Given the description of an element on the screen output the (x, y) to click on. 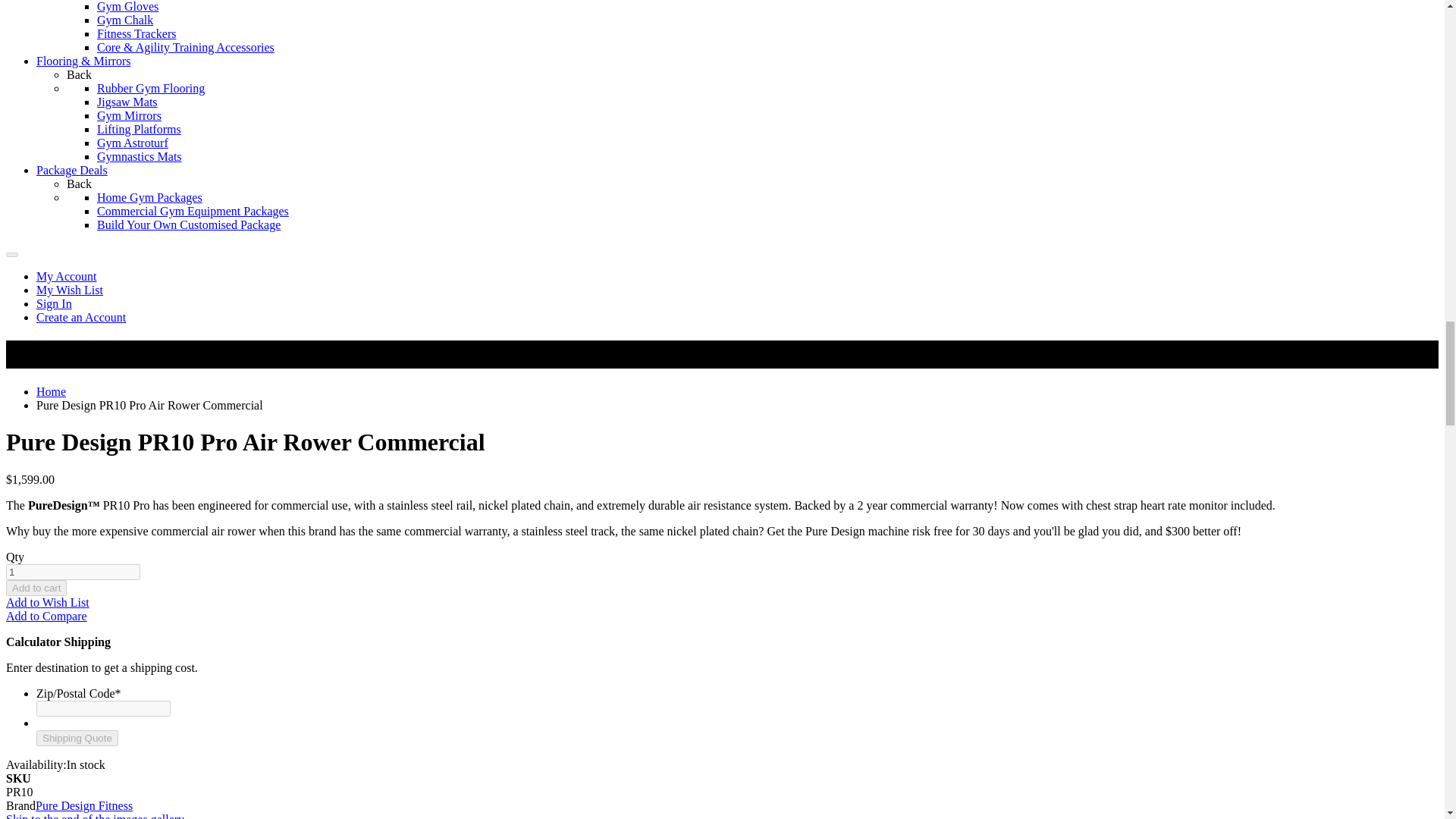
Shipping Quote (76, 738)
1 (72, 571)
Pure Design Fitness (83, 805)
Add to cart (35, 587)
Go to Home Page (50, 391)
Qty (72, 571)
